Given the description of an element on the screen output the (x, y) to click on. 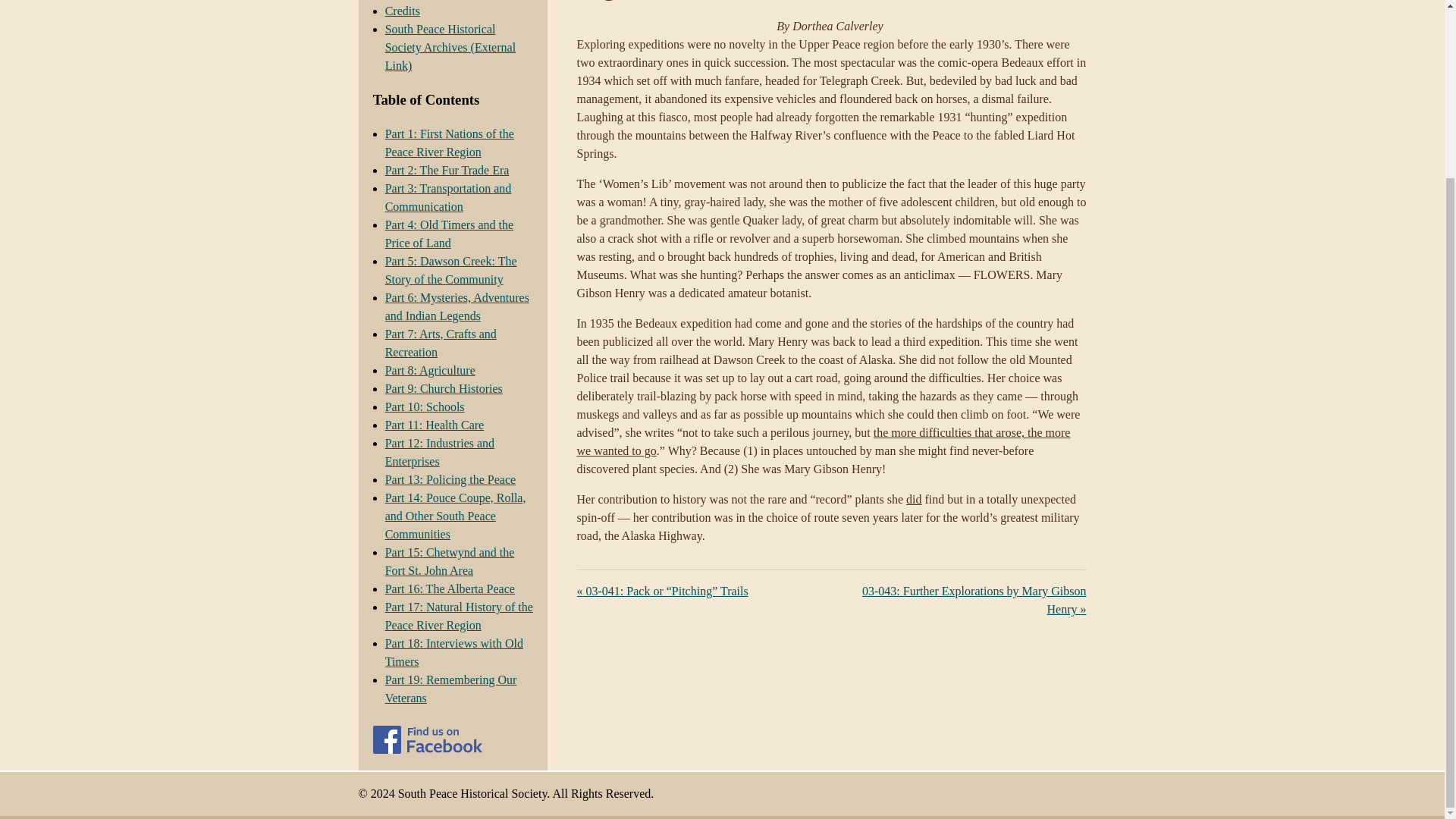
Part 2: The Fur Trade Era (447, 169)
Part 17: Natural History of the Peace River Region (458, 615)
Part 13: Policing the Peace (450, 479)
Part 6: Mysteries, Adventures and Indian Legends (457, 306)
Part 15: Chetwynd and the Fort St. John Area (450, 561)
Part 5: Dawson Creek: The Story of the Community (450, 269)
Part 8: Agriculture (430, 369)
Part 9: Church Histories (443, 388)
Part 10: Schools (424, 406)
Part 12: Industries and Enterprises (440, 451)
